Given the description of an element on the screen output the (x, y) to click on. 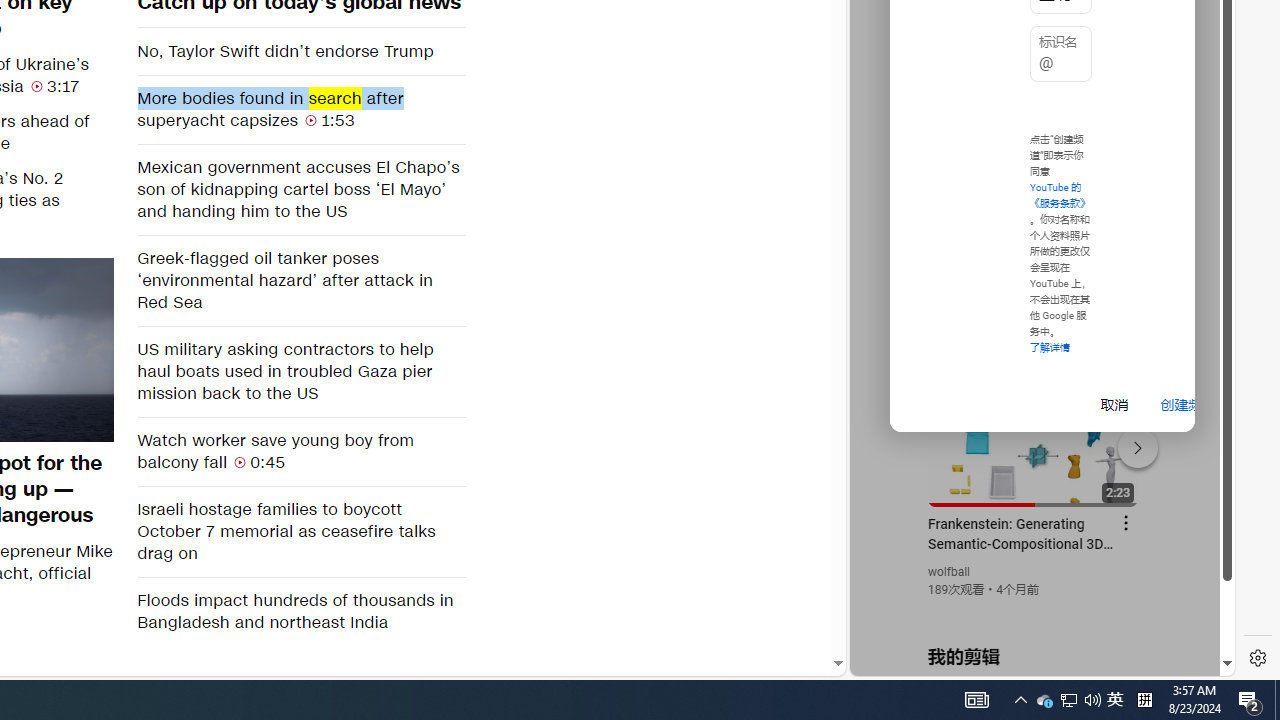
wolfball (949, 572)
you (1034, 609)
YouTube - YouTube (1034, 266)
More bodies found in search after superyacht capsizes 1:53 (300, 109)
US[ju] (917, 660)
